Given the description of an element on the screen output the (x, y) to click on. 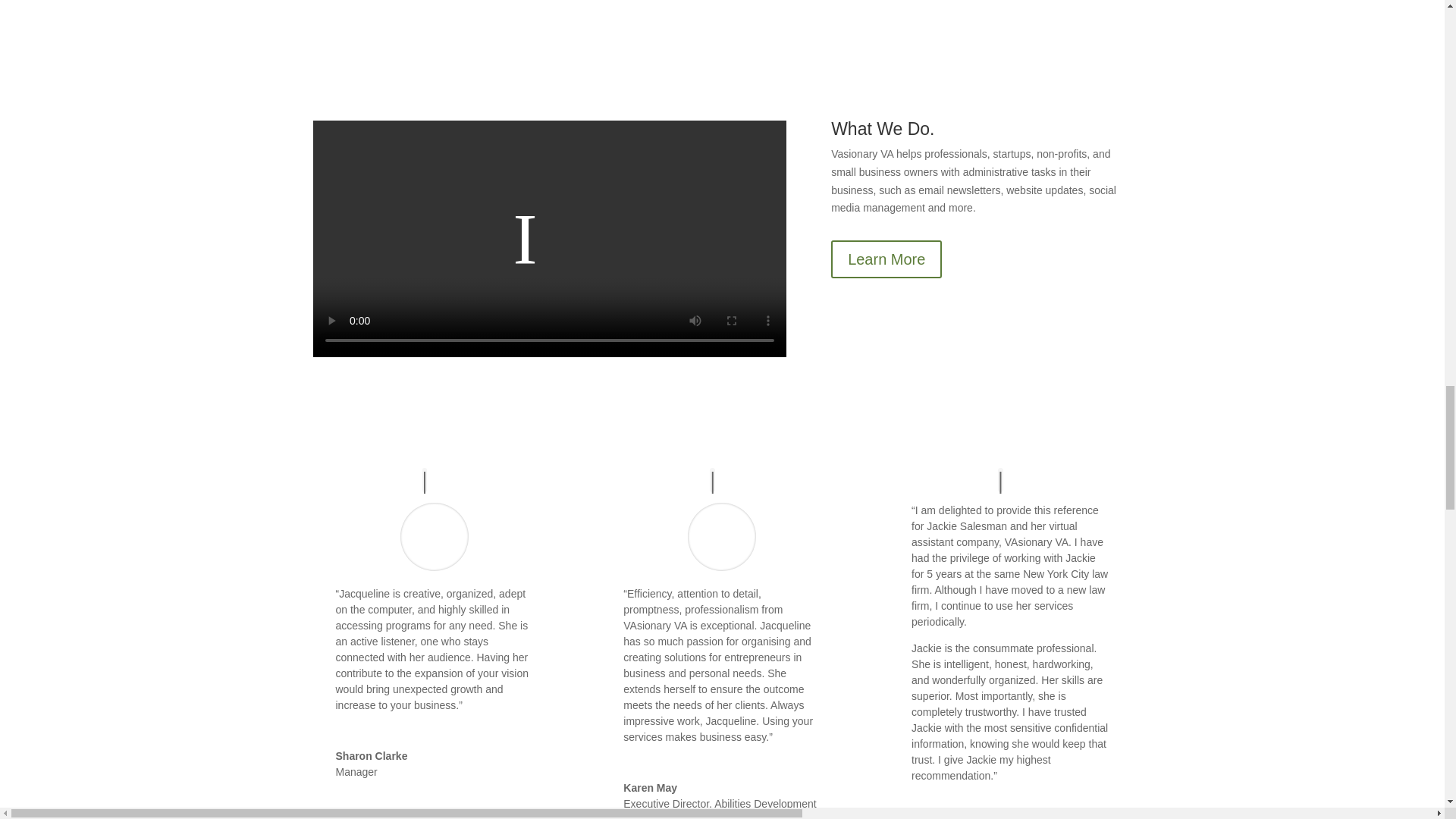
Learn More (886, 259)
